Given the description of an element on the screen output the (x, y) to click on. 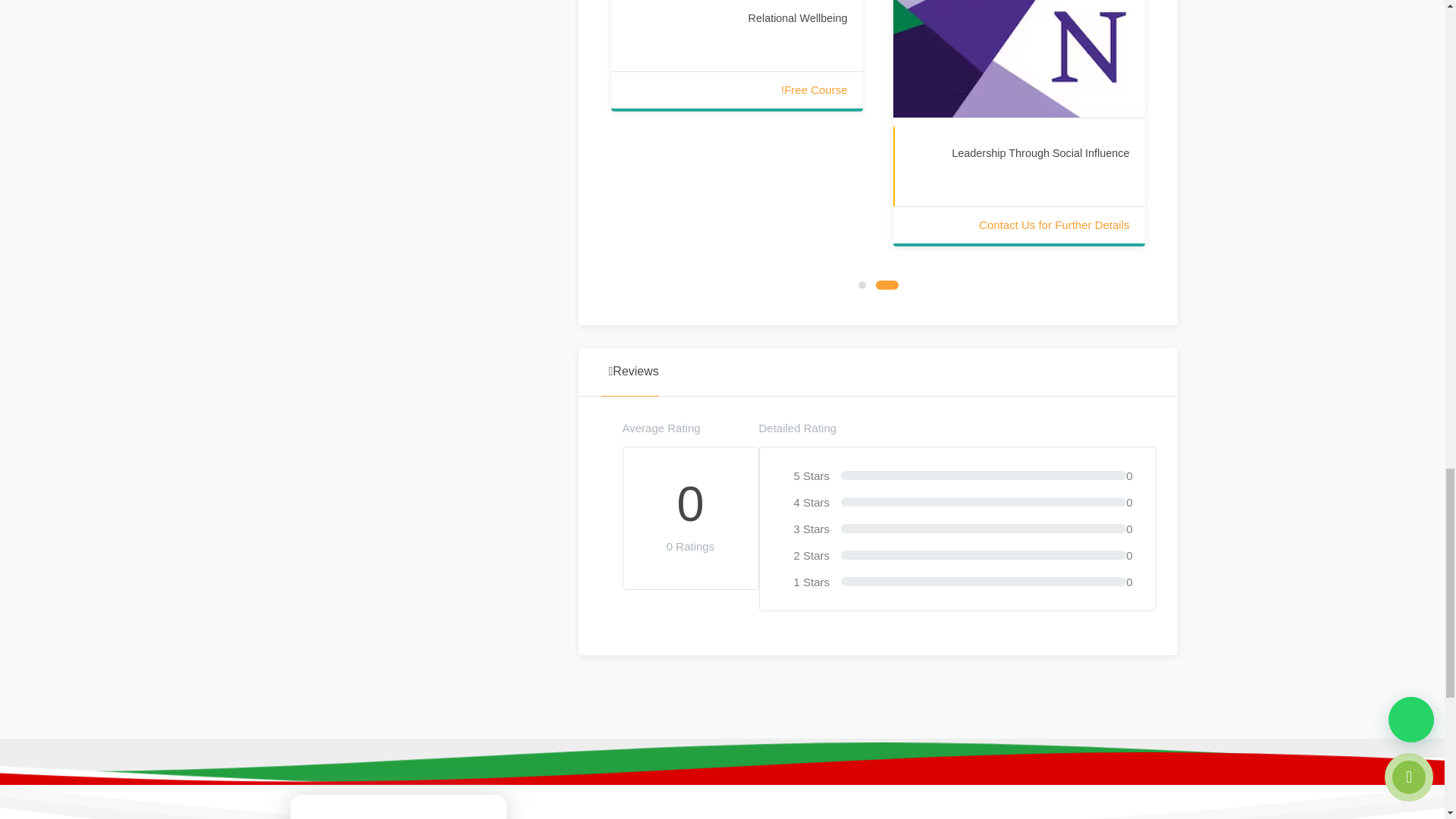
Relational Wellbeing (797, 18)
Leadership Through Social Influence (1040, 152)
